Given the description of an element on the screen output the (x, y) to click on. 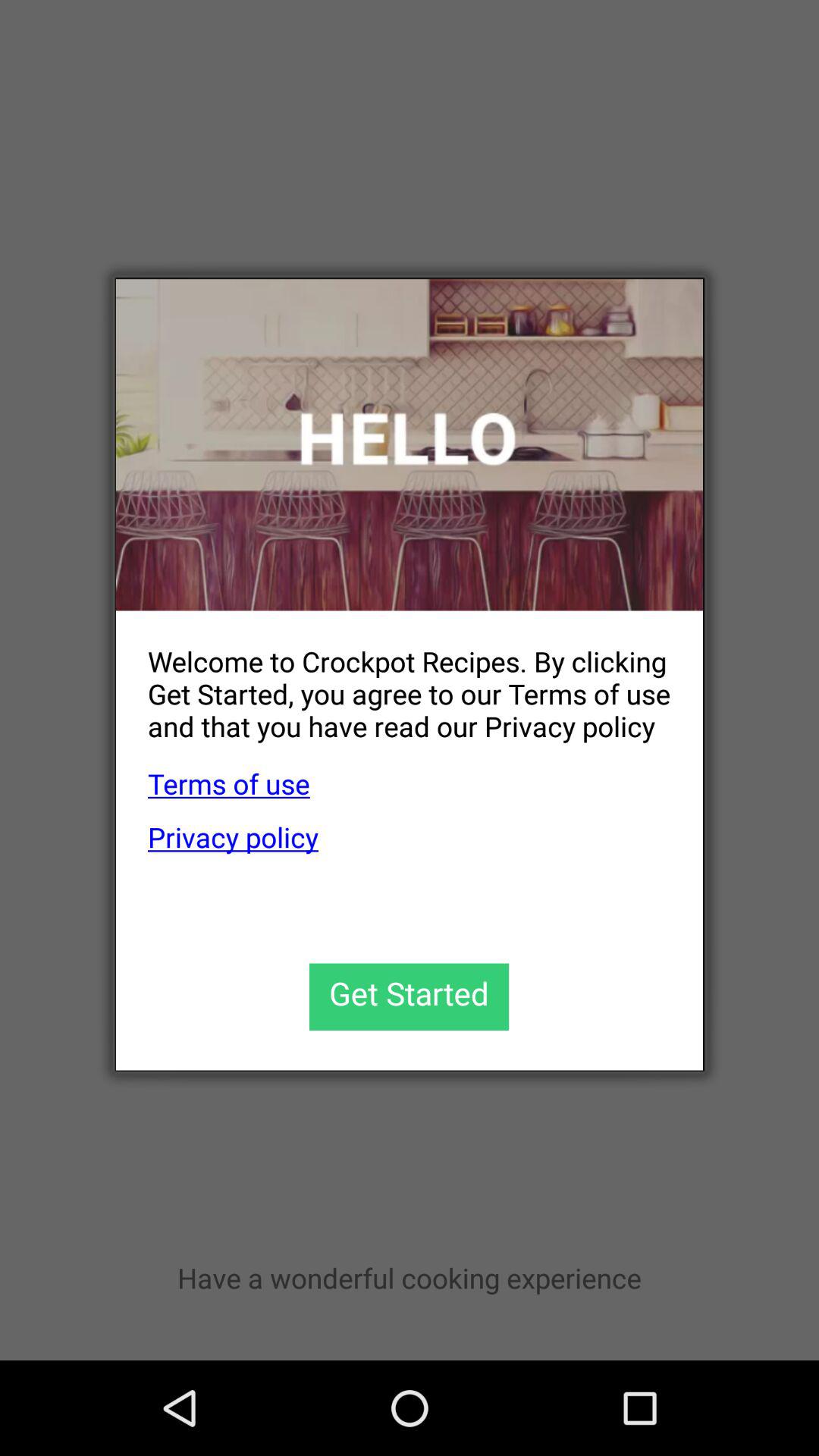
get started (409, 996)
